Given the description of an element on the screen output the (x, y) to click on. 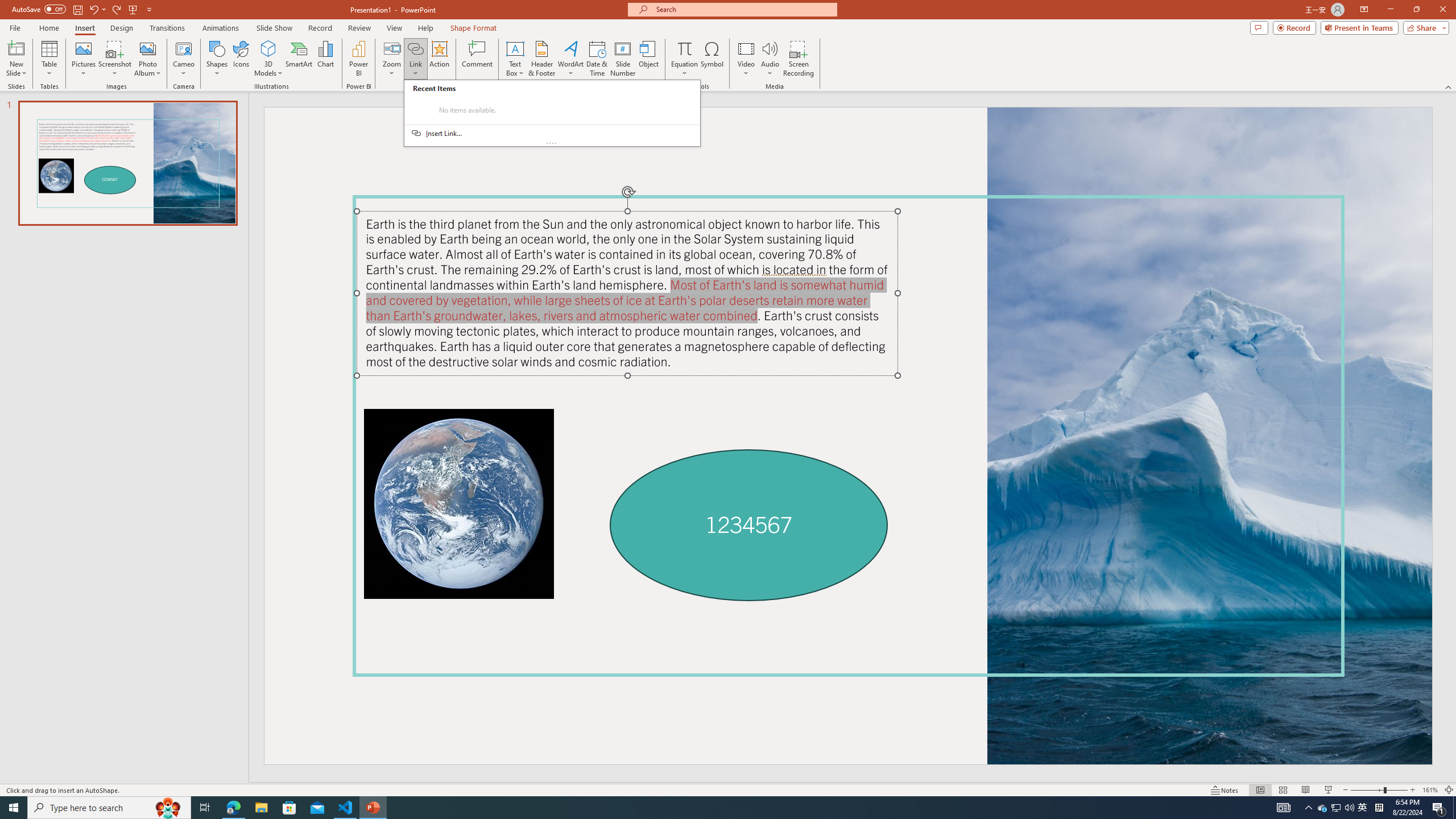
3D Models (268, 58)
Date & Time... (596, 58)
New Photo Album... (147, 48)
Chart... (325, 58)
Video (745, 58)
